Given the description of an element on the screen output the (x, y) to click on. 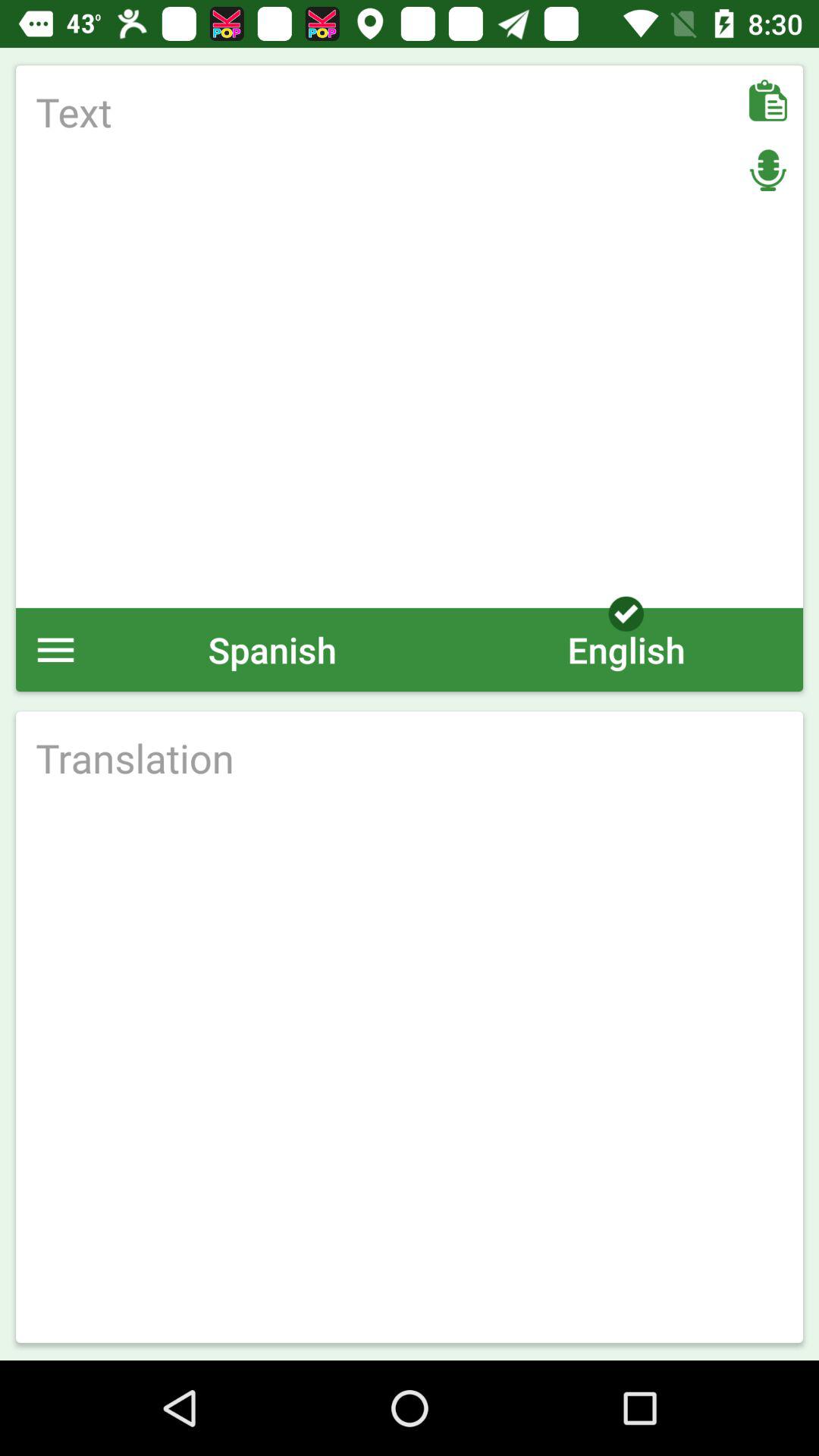
options menu (55, 649)
